Given the description of an element on the screen output the (x, y) to click on. 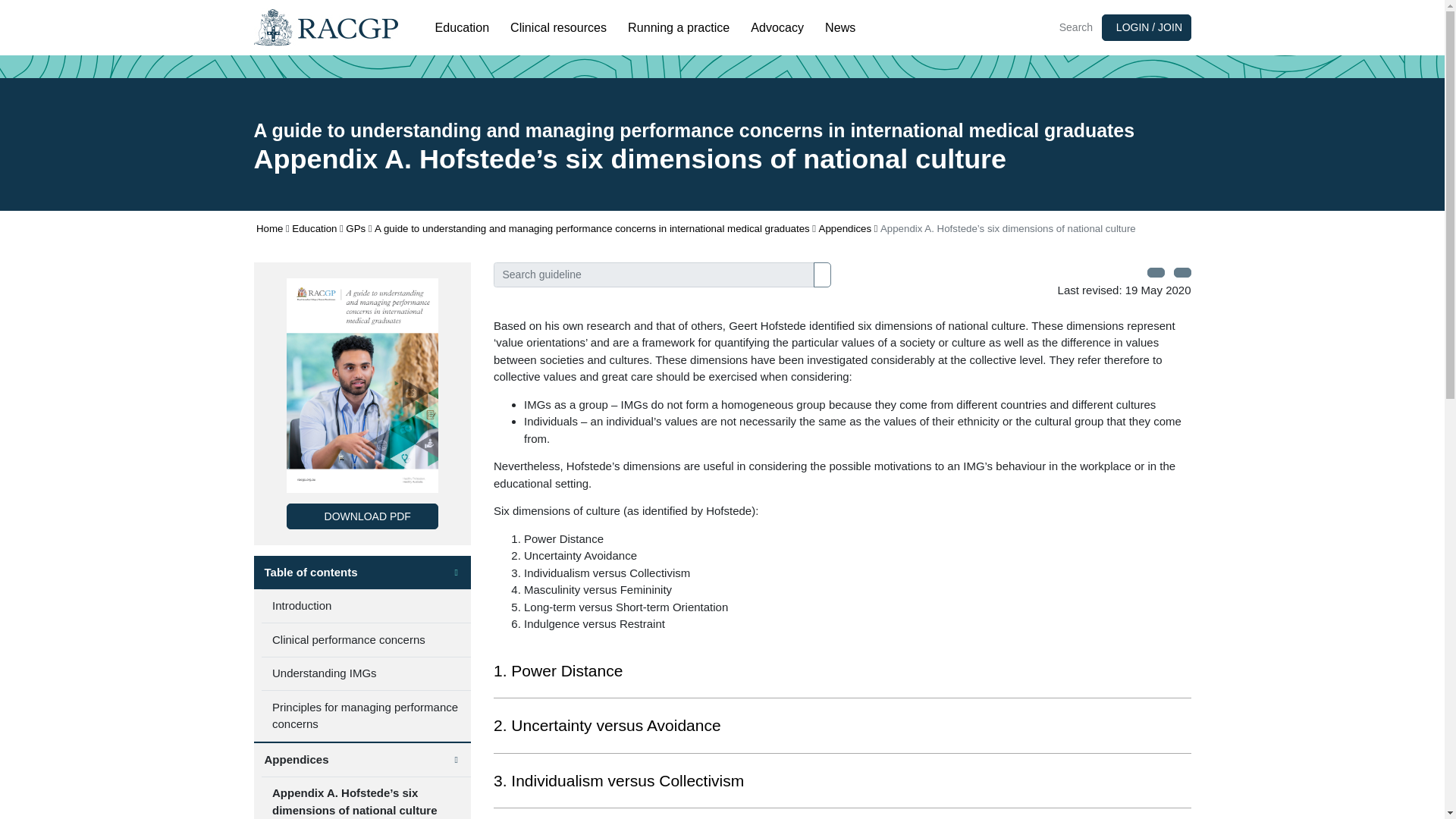
GPs (355, 228)
RACGP Logo (325, 26)
Education (314, 228)
Education (462, 27)
Appendices (845, 228)
